Given the description of an element on the screen output the (x, y) to click on. 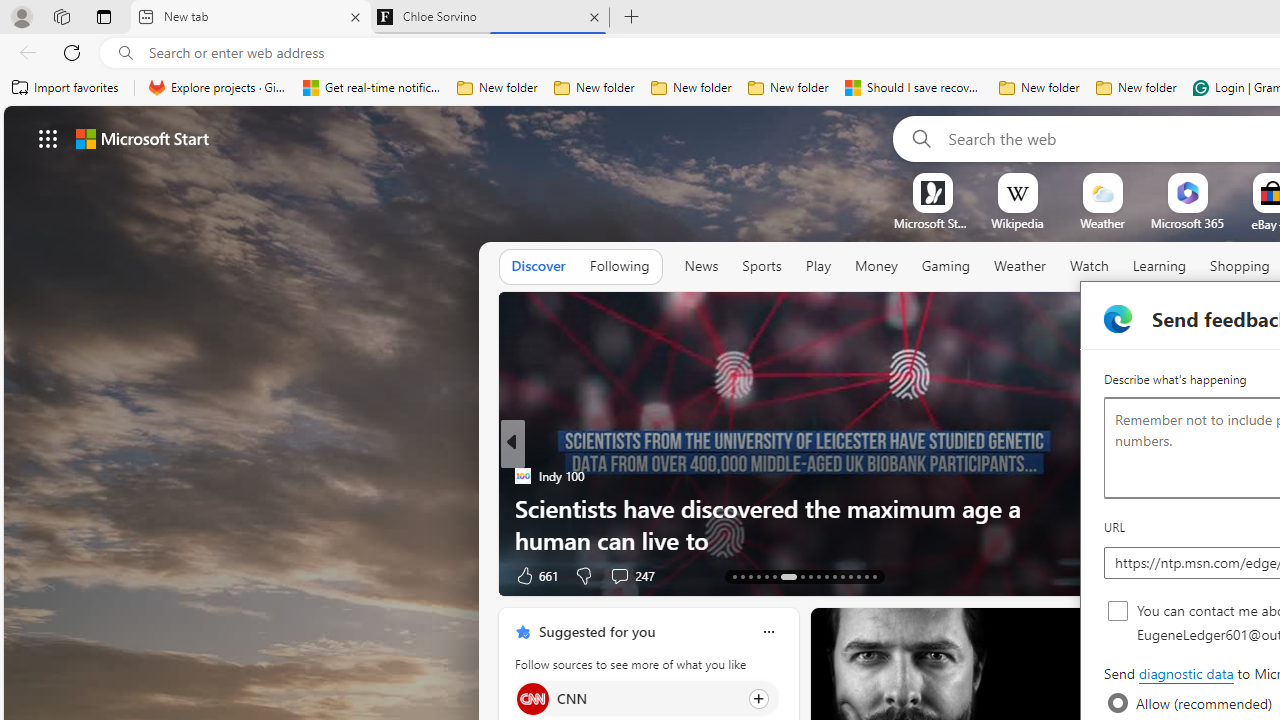
View comments 247 Comment (619, 575)
Hide this story (1050, 632)
AutomationID: tab-14 (742, 576)
Sports (761, 267)
AutomationID: tab-23 (825, 576)
Learning (1159, 267)
Gaming (945, 267)
Class: icon-img (768, 632)
AutomationID: tab-41 (865, 576)
AutomationID: tab-21 (810, 576)
View comments 247 Comment (632, 574)
